Given the description of an element on the screen output the (x, y) to click on. 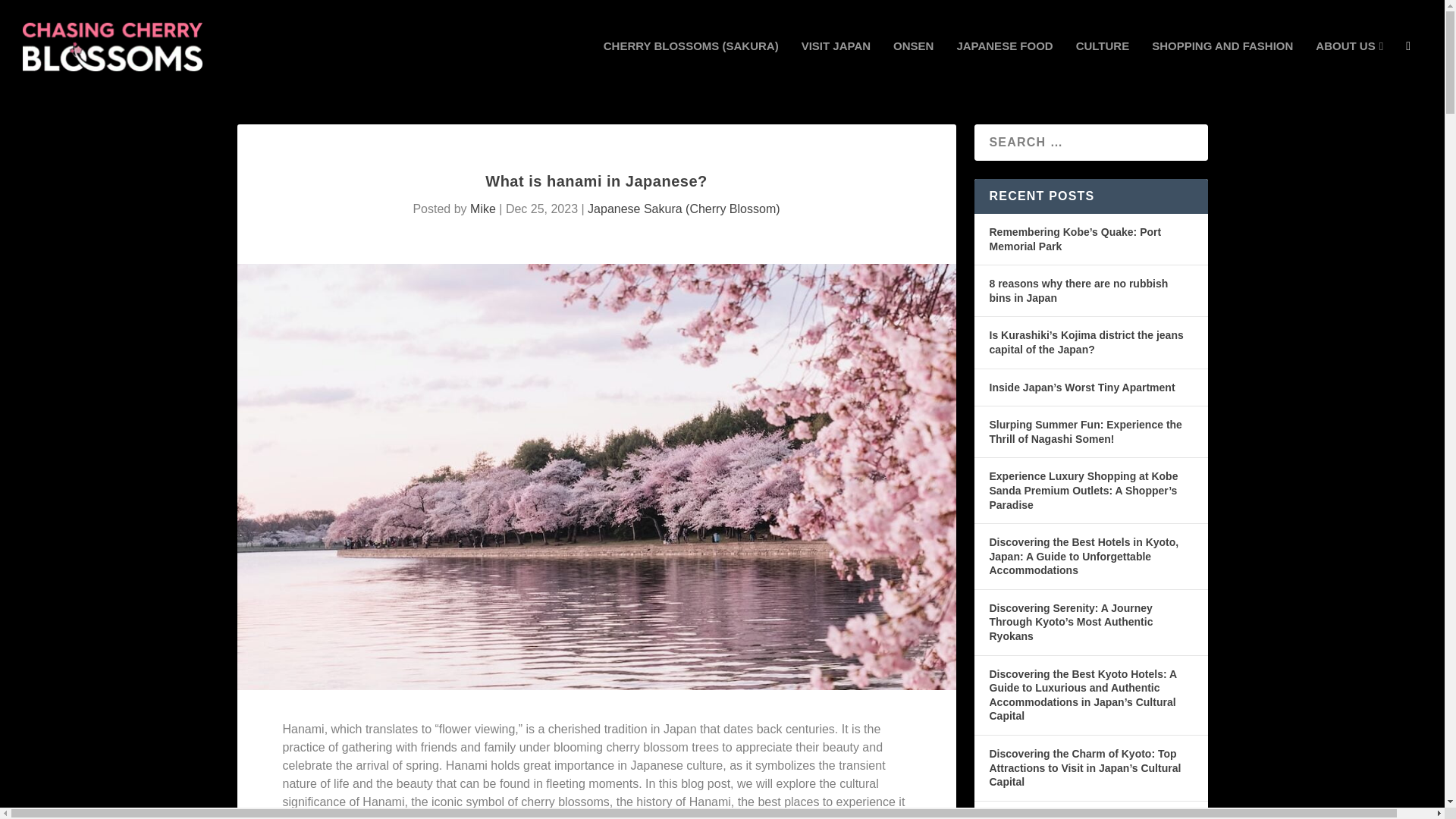
Mike (483, 208)
8 reasons why there are no rubbish bins in Japan (1077, 290)
Slurping Summer Fun: Experience the Thrill of Nagashi Somen! (1084, 431)
ABOUT US (1349, 67)
Search (29, 13)
JAPANESE FOOD (1004, 67)
VISIT JAPAN (836, 67)
CULTURE (1102, 67)
Posts by Mike (483, 208)
SHOPPING AND FASHION (1221, 67)
